Given the description of an element on the screen output the (x, y) to click on. 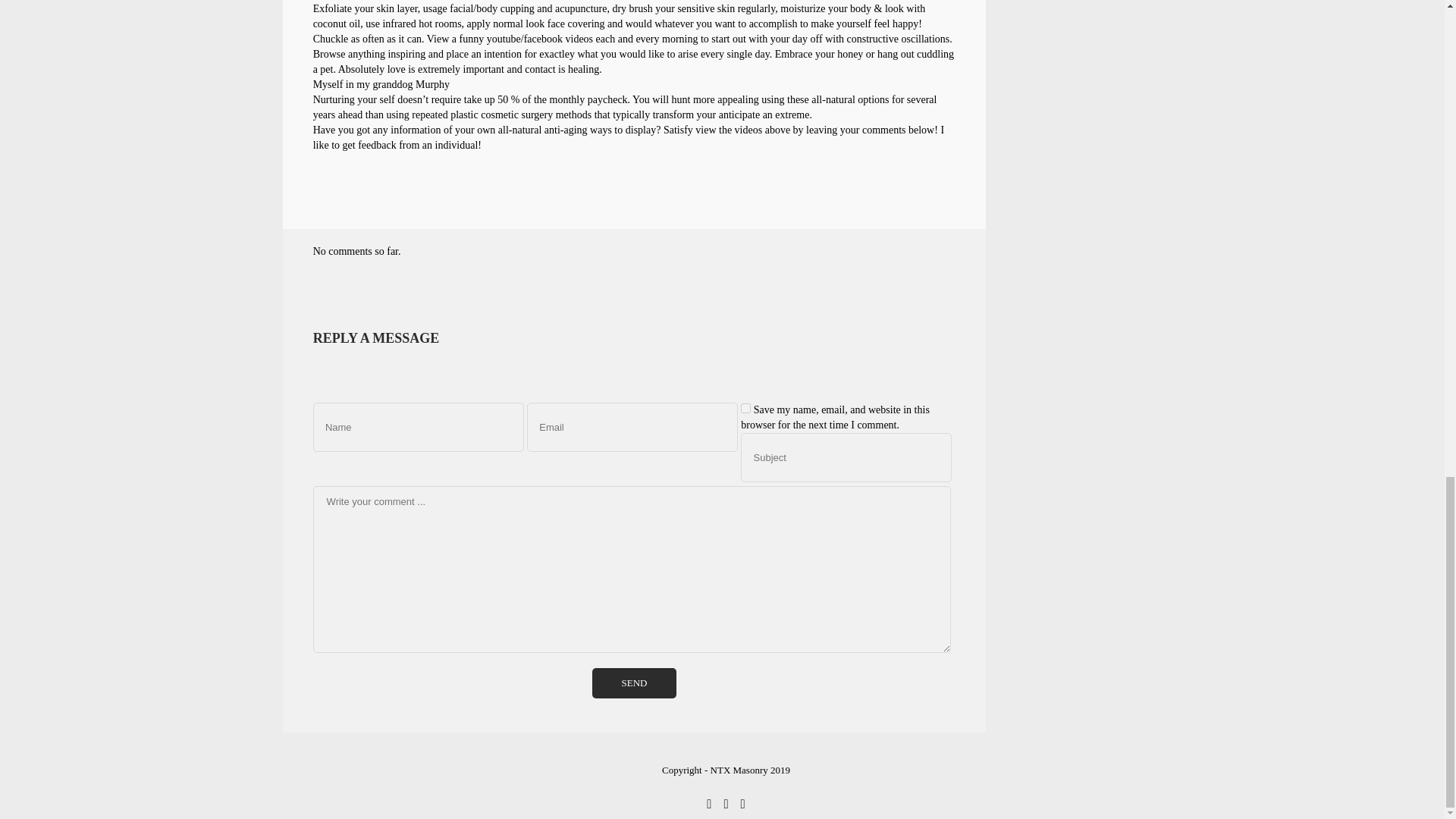
SEND (633, 683)
yes (746, 408)
SEND (633, 683)
